Given the description of an element on the screen output the (x, y) to click on. 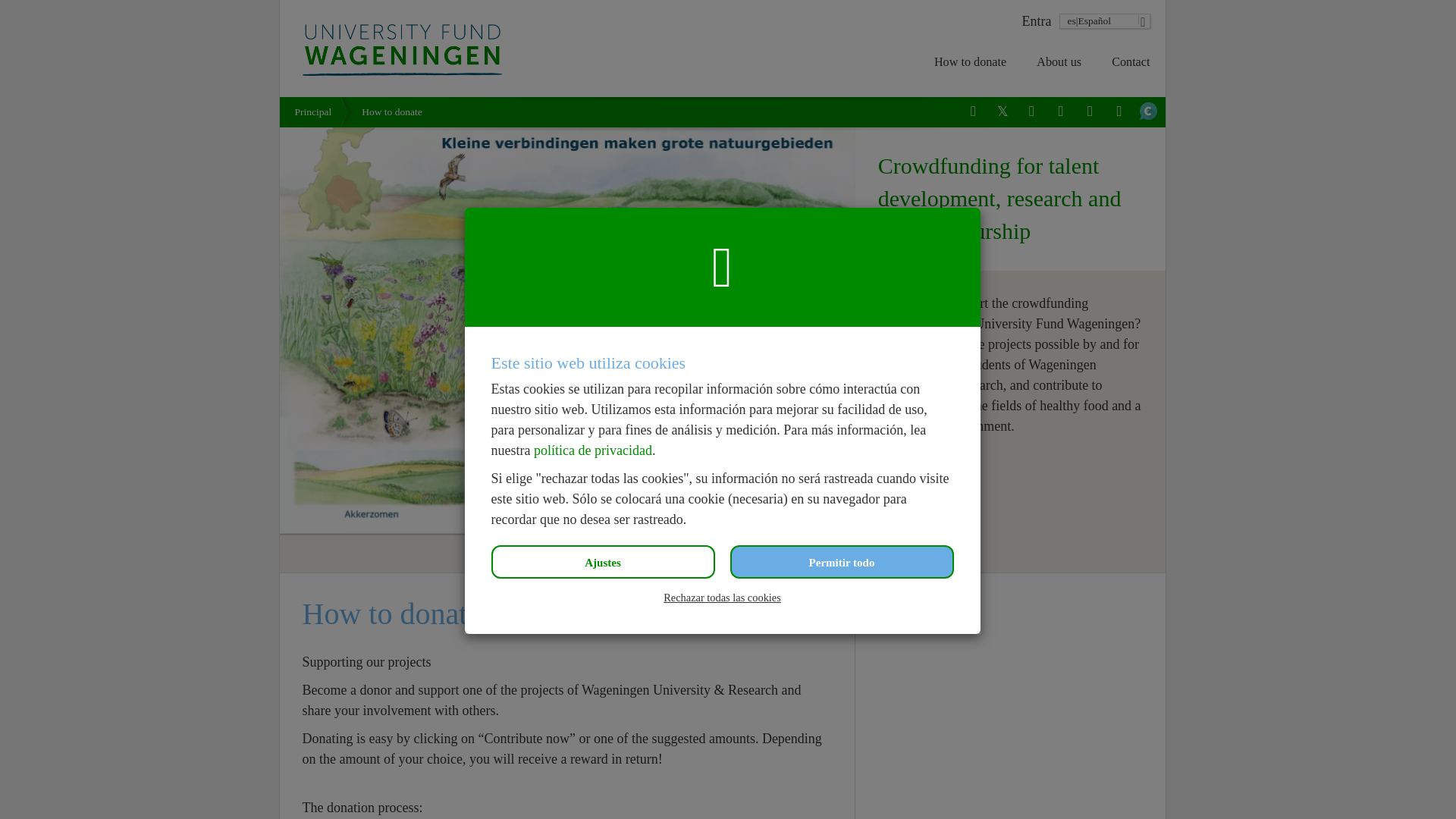
How to donate (970, 62)
About us (1059, 62)
Principal (316, 112)
 Entra (1034, 20)
Contact (1130, 62)
